Given the description of an element on the screen output the (x, y) to click on. 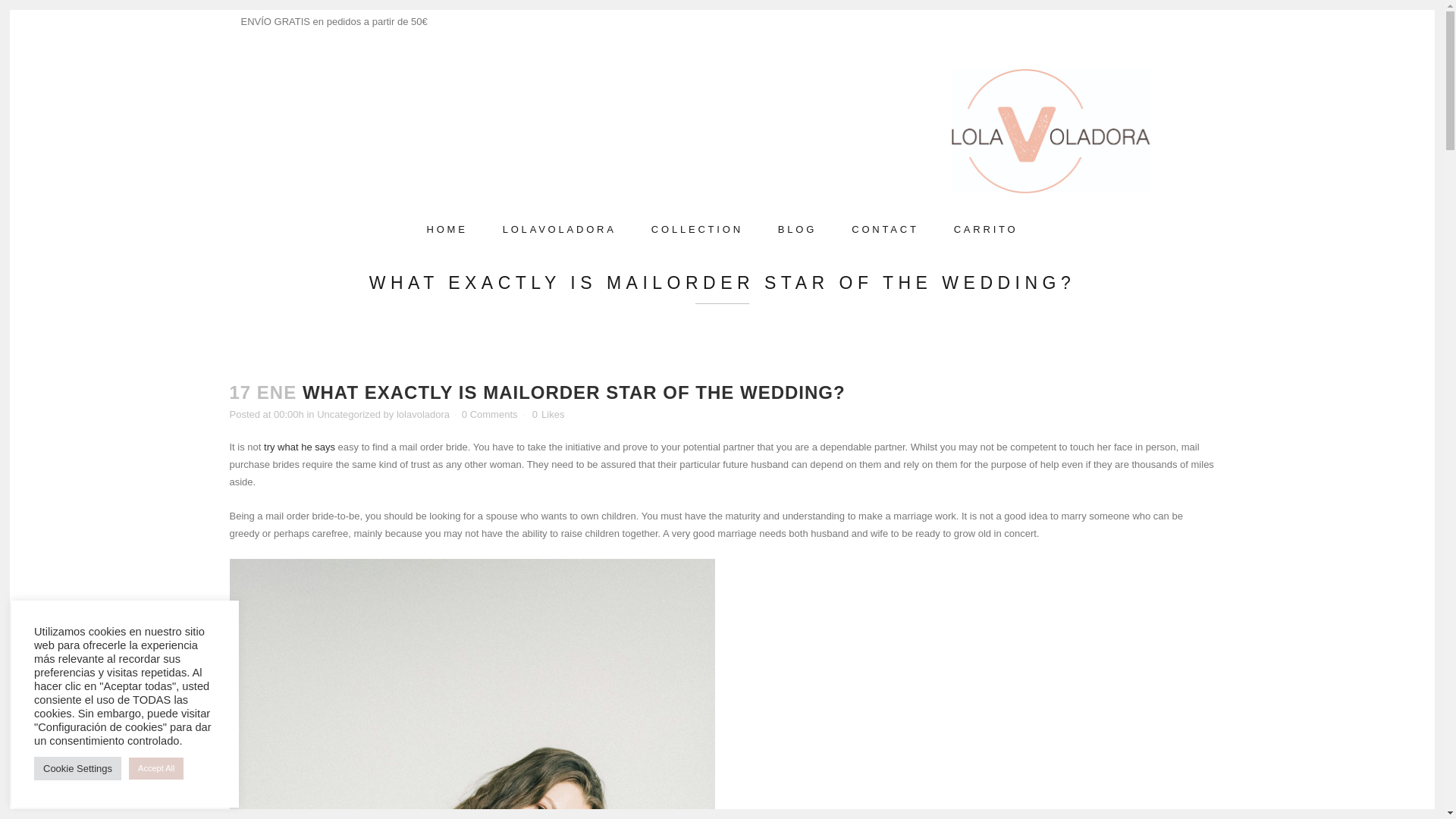
Uncategorized (348, 414)
0 Comments (489, 414)
Accept All (156, 768)
Like this (548, 414)
lolavoladora (422, 414)
CARRITO (985, 229)
COLLECTION (696, 229)
LOLAVOLADORA (558, 229)
HOME (446, 229)
try what he says (298, 446)
BLOG (797, 229)
CONTACT (885, 229)
Cookie Settings (76, 768)
0 Likes (548, 414)
